Given the description of an element on the screen output the (x, y) to click on. 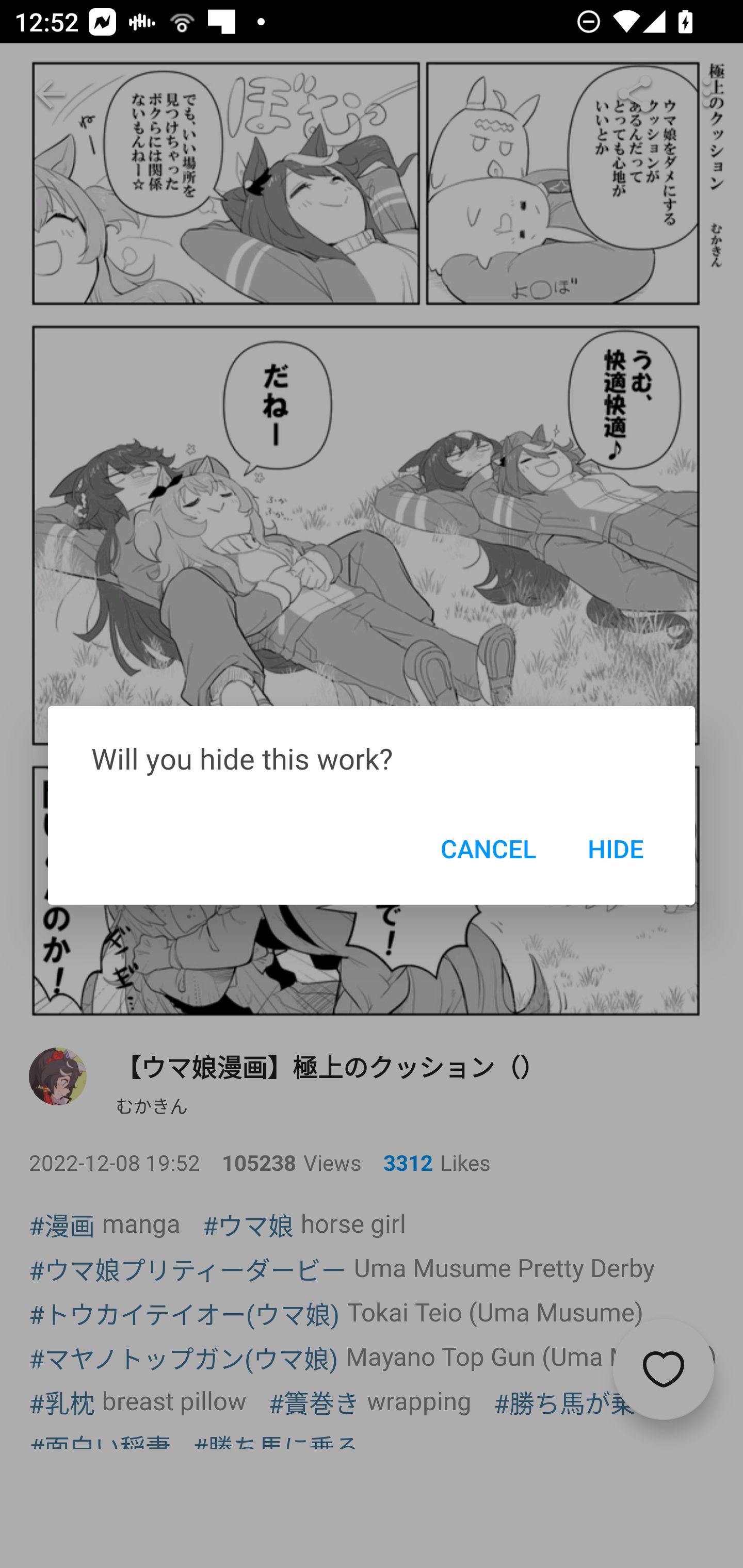
CANCEL (488, 847)
HIDE (615, 847)
